Given the description of an element on the screen output the (x, y) to click on. 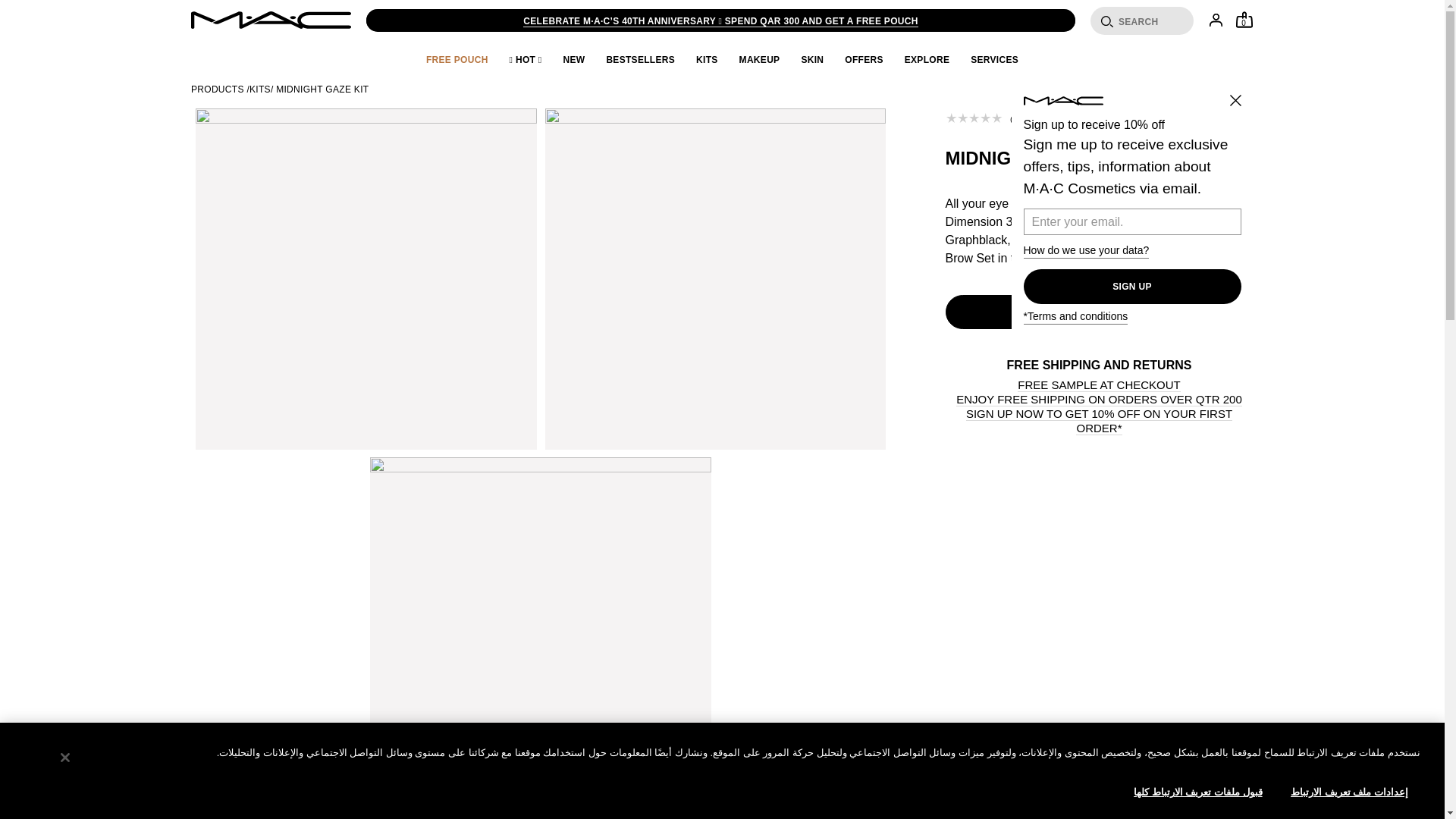
icon--cart (1244, 19)
close (1241, 94)
Offers (1422, 798)
SIGN UP (1132, 286)
EMAIL SIGN UP (109, 798)
NEW (573, 59)
MAC (270, 19)
MESSAGE US (1243, 19)
MAC (33, 798)
Click to Shopping bag (270, 19)
SERVICES (1243, 19)
